Given the description of an element on the screen output the (x, y) to click on. 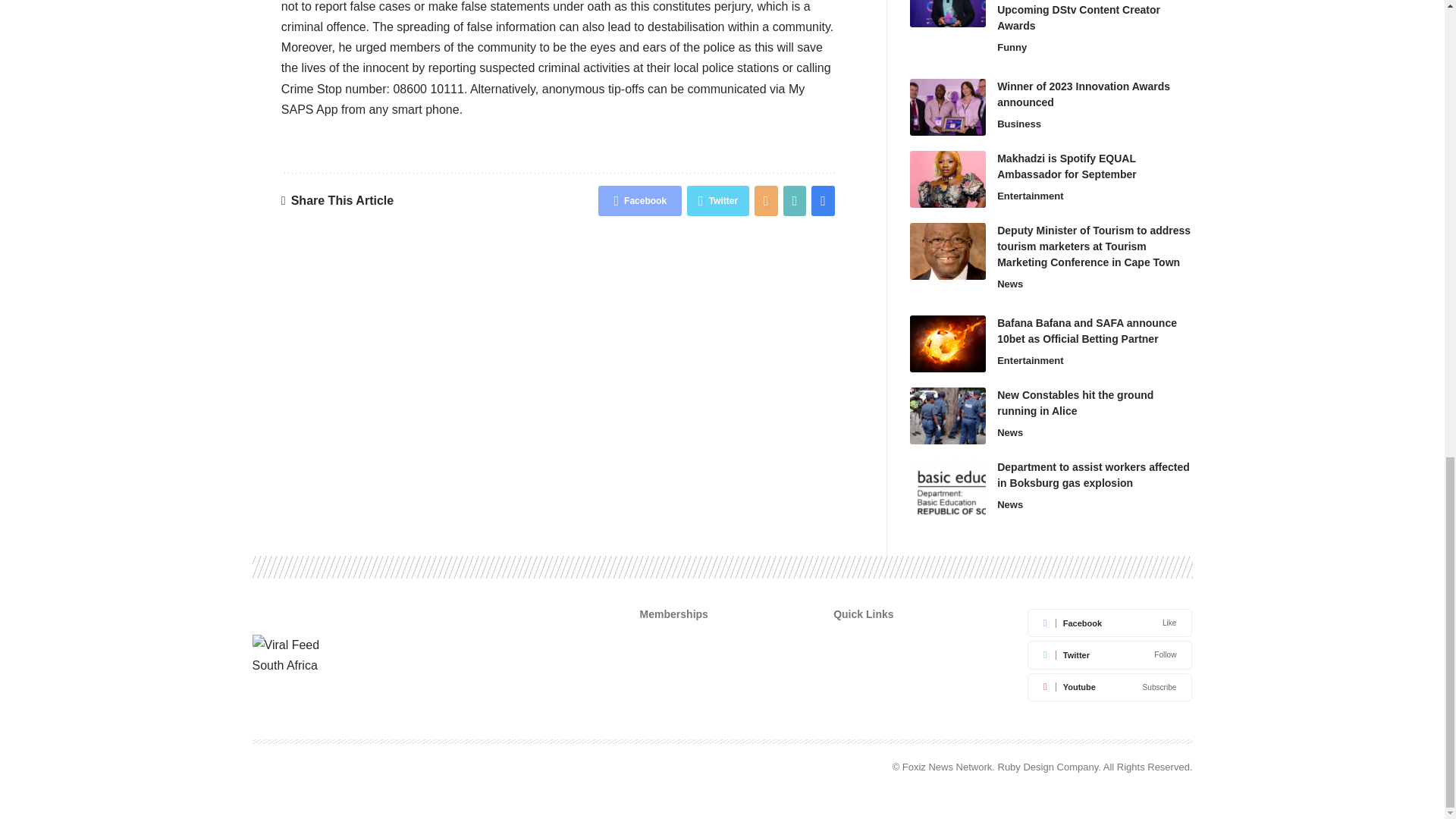
Winner of 2023 Innovation Awards announced (947, 106)
